Given the description of an element on the screen output the (x, y) to click on. 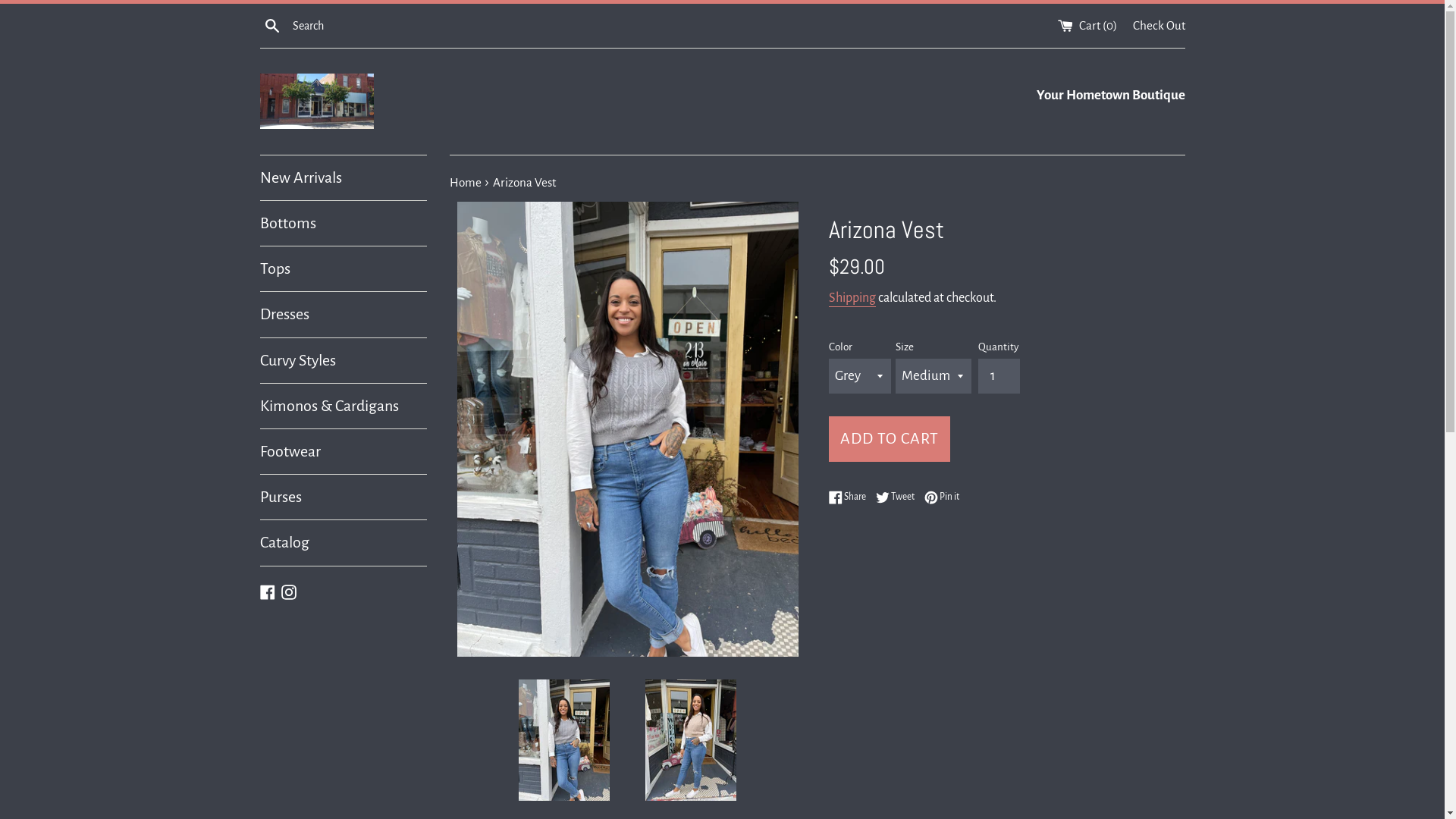
Bottoms Element type: text (342, 222)
Instagram Element type: text (287, 590)
Facebook Element type: text (266, 590)
Cart (0) Element type: text (1087, 24)
Pin it
Pin on Pinterest Element type: text (940, 497)
Catalog Element type: text (342, 542)
Tweet
Tweet on Twitter Element type: text (898, 497)
Tops Element type: text (342, 268)
Share
Share on Facebook Element type: text (850, 497)
Home Element type: text (465, 181)
Purses Element type: text (342, 496)
Kimonos & Cardigans Element type: text (342, 405)
New Arrivals Element type: text (342, 177)
ADD TO CART Element type: text (888, 438)
Footwear Element type: text (342, 451)
Shipping Element type: text (851, 299)
Dresses Element type: text (342, 313)
Search Element type: text (271, 25)
Curvy Styles Element type: text (342, 360)
Check Out Element type: text (1158, 24)
